Given the description of an element on the screen output the (x, y) to click on. 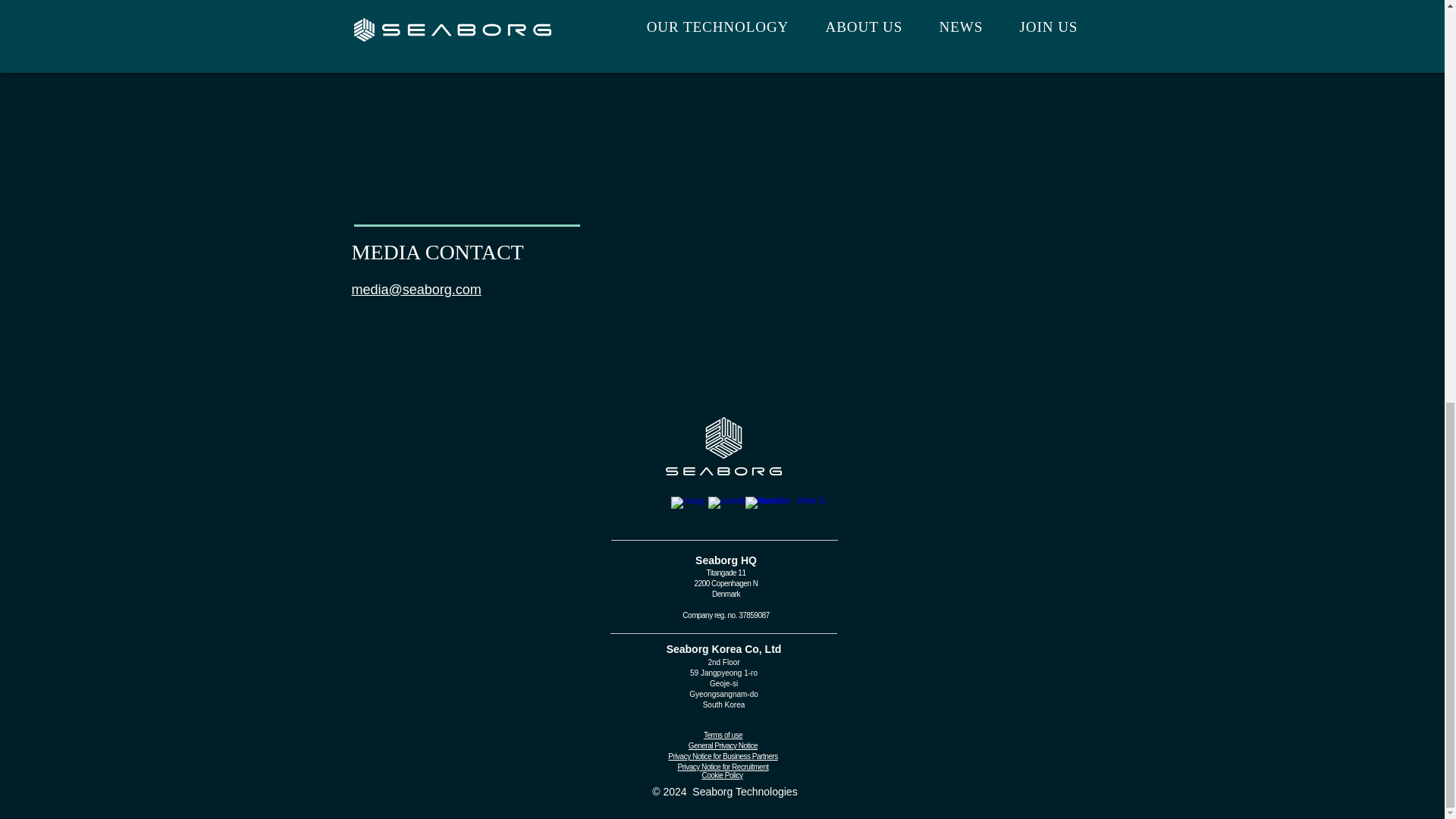
Privacy Notice for Business Partners (722, 756)
Cookie Policy (721, 775)
Privacy Notice for Recruitment (722, 766)
General Privacy Notice (722, 746)
Terms of use (722, 735)
